Given the description of an element on the screen output the (x, y) to click on. 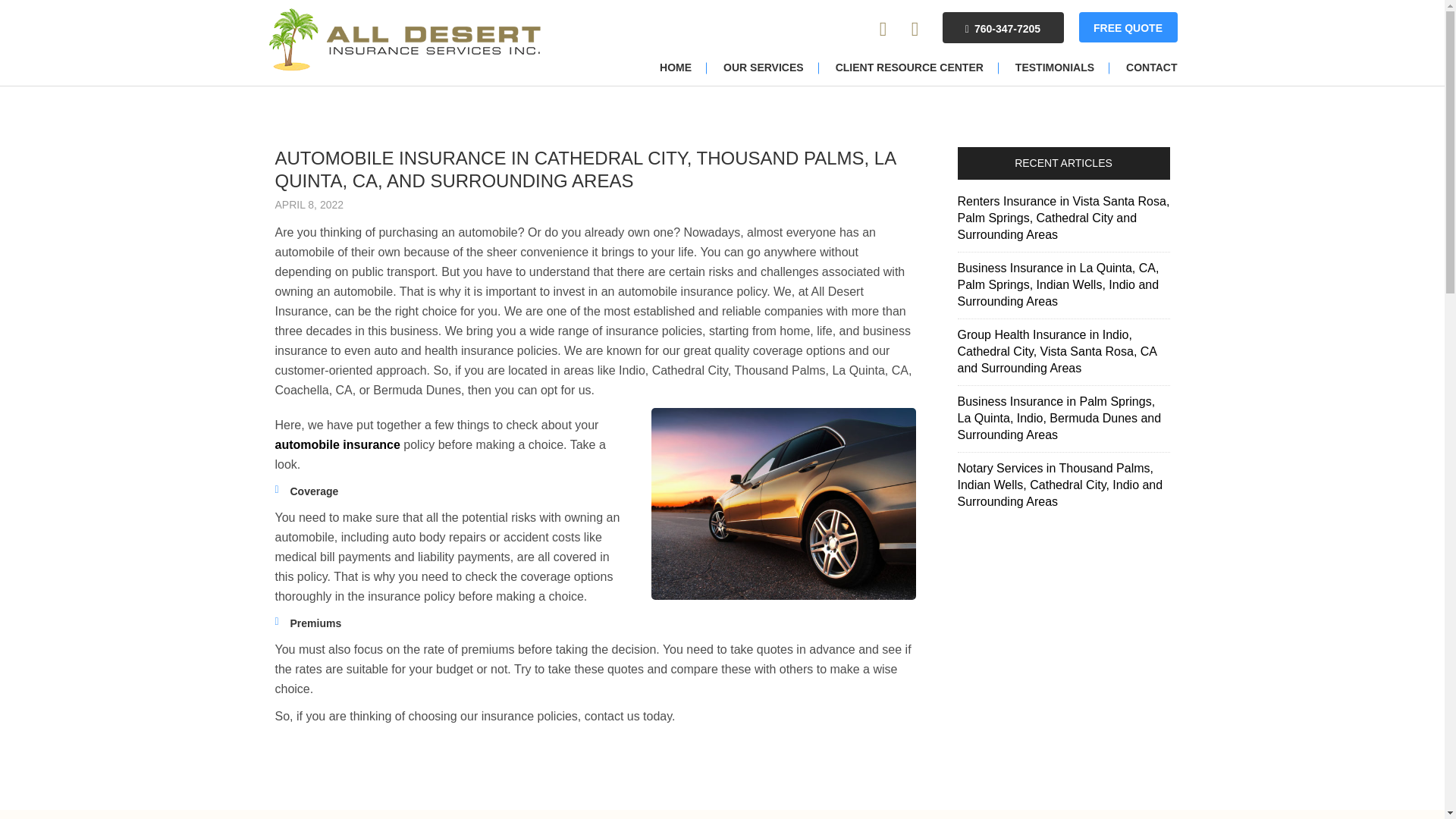
HOME (675, 67)
OUR SERVICES (762, 67)
CLIENT RESOURCE CENTER (909, 67)
760-347-7205 (1002, 27)
CONTACT (1143, 67)
Facebook (914, 29)
TESTIMONIALS (1054, 67)
FREE QUOTE (1127, 27)
automobile insurance (336, 444)
Yelp (882, 29)
